Given the description of an element on the screen output the (x, y) to click on. 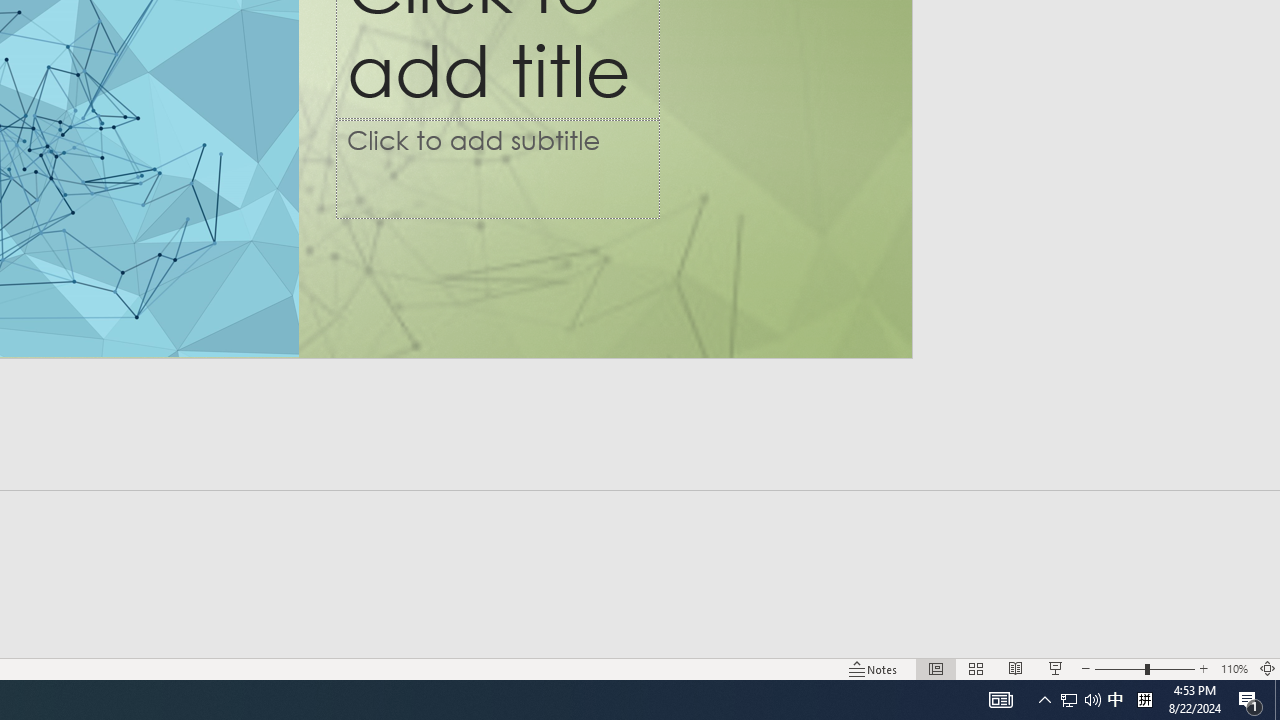
Zoom 110% (1234, 668)
